Given the description of an element on the screen output the (x, y) to click on. 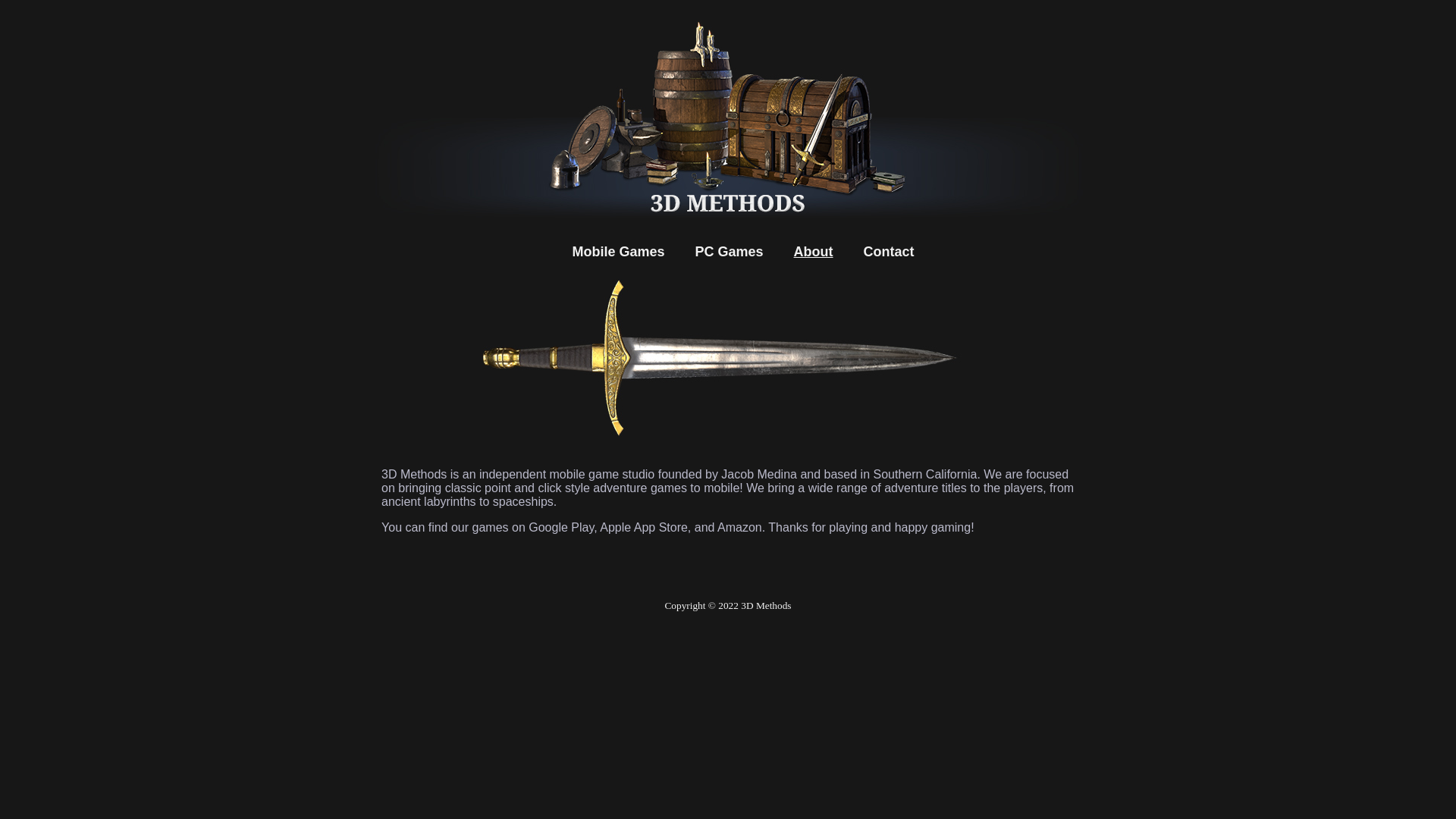
PC Games Element type: text (728, 251)
About Element type: text (813, 251)
Contact Element type: text (889, 251)
Mobile Games Element type: text (617, 251)
